Given the description of an element on the screen output the (x, y) to click on. 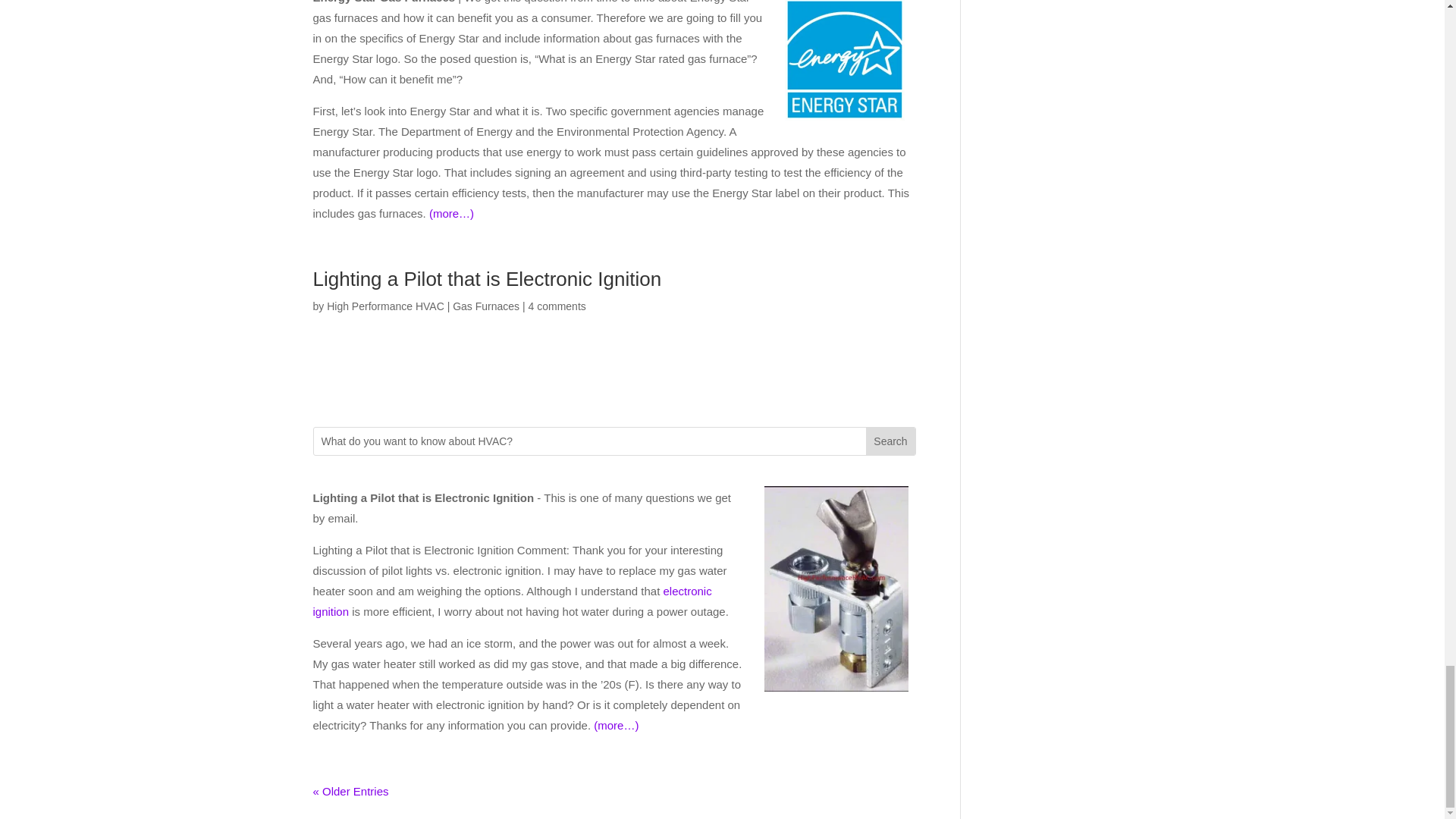
Search (890, 441)
Posts by High Performance HVAC (385, 306)
Search (890, 441)
